Given the description of an element on the screen output the (x, y) to click on. 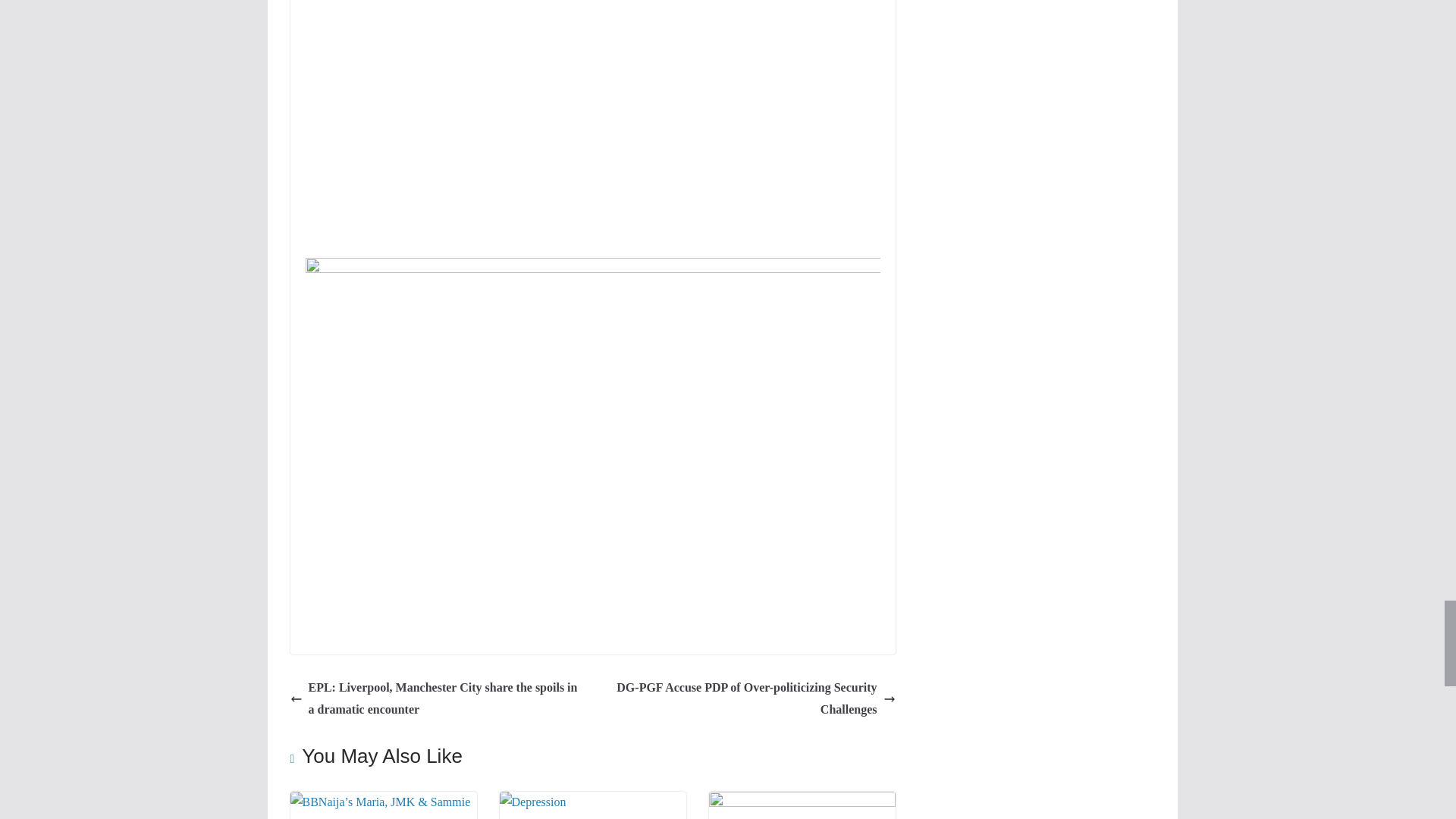
DG-PGF Accuse PDP of Over-politicizing Security Challenges (747, 699)
